Given the description of an element on the screen output the (x, y) to click on. 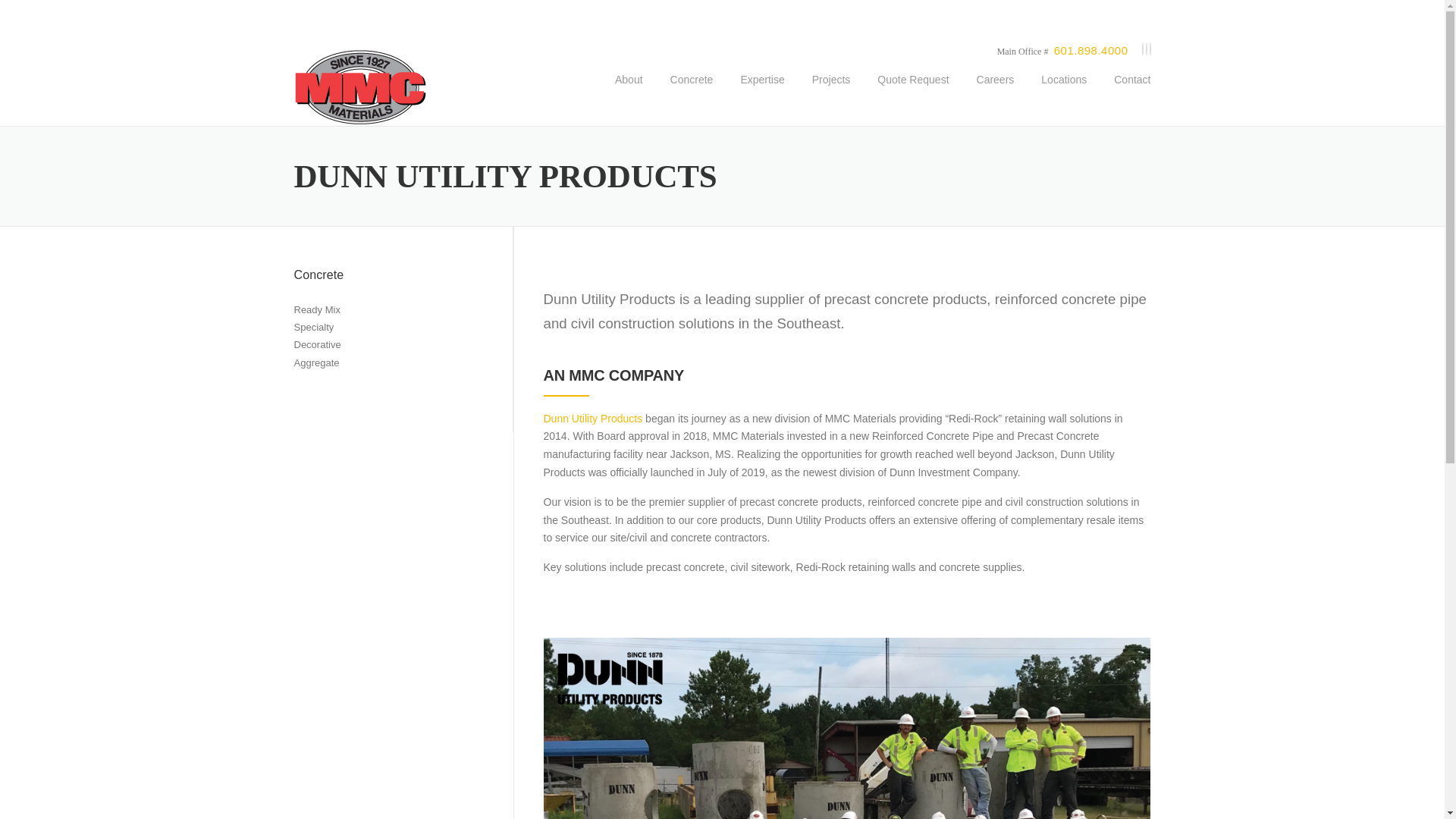
Projects (830, 91)
MMC Materials, Inc. (360, 86)
Careers (994, 91)
Expertise (761, 91)
Specialty (314, 326)
Contact (1125, 91)
Ready Mix (317, 309)
Dunn Utility Products (592, 418)
About (628, 91)
601.898.4000 (1091, 50)
